Given the description of an element on the screen output the (x, y) to click on. 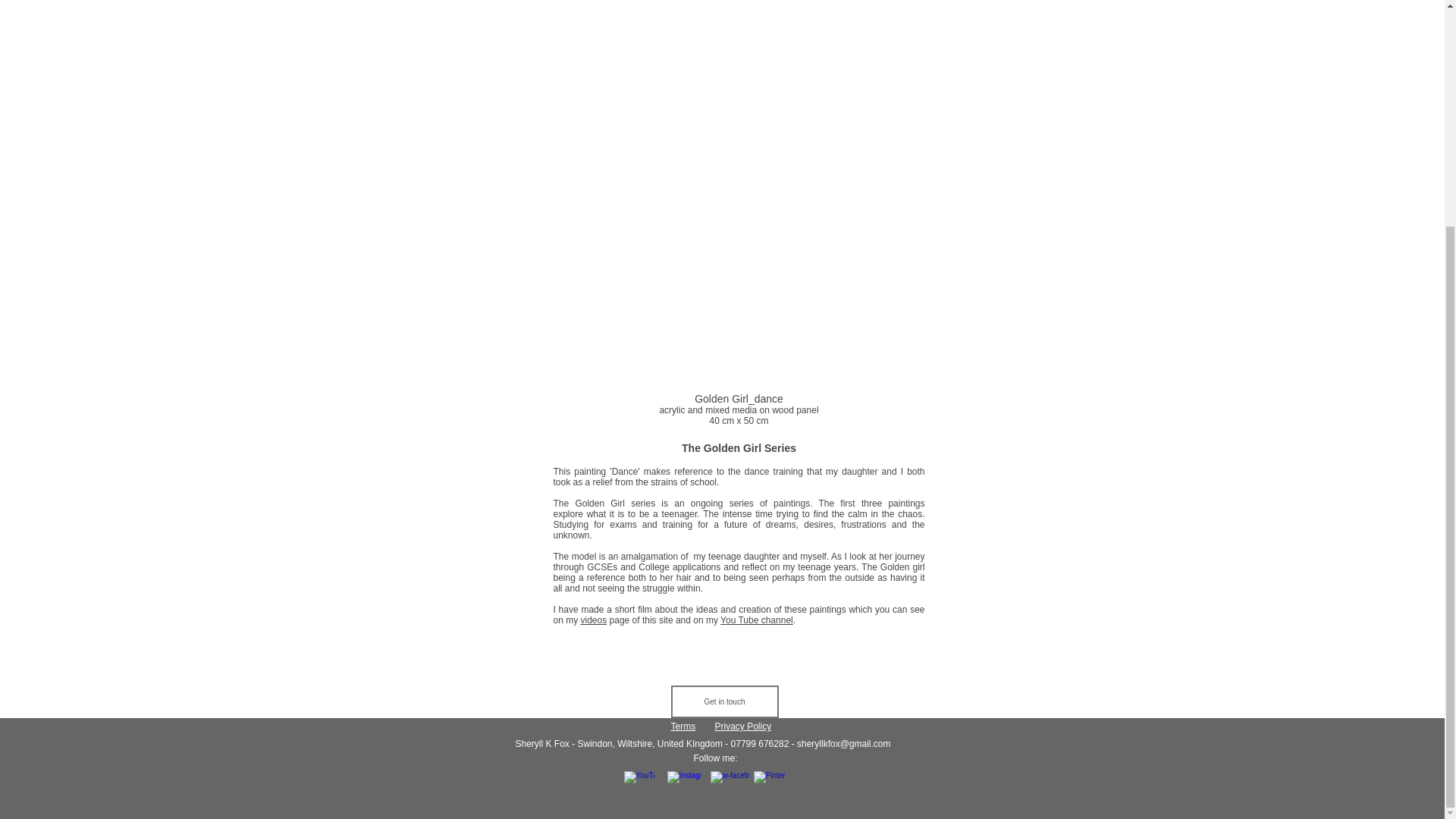
Privacy Policy (742, 726)
Terms (682, 726)
You Tube channel (756, 620)
videos (593, 620)
Get in touch (723, 701)
